Given the description of an element on the screen output the (x, y) to click on. 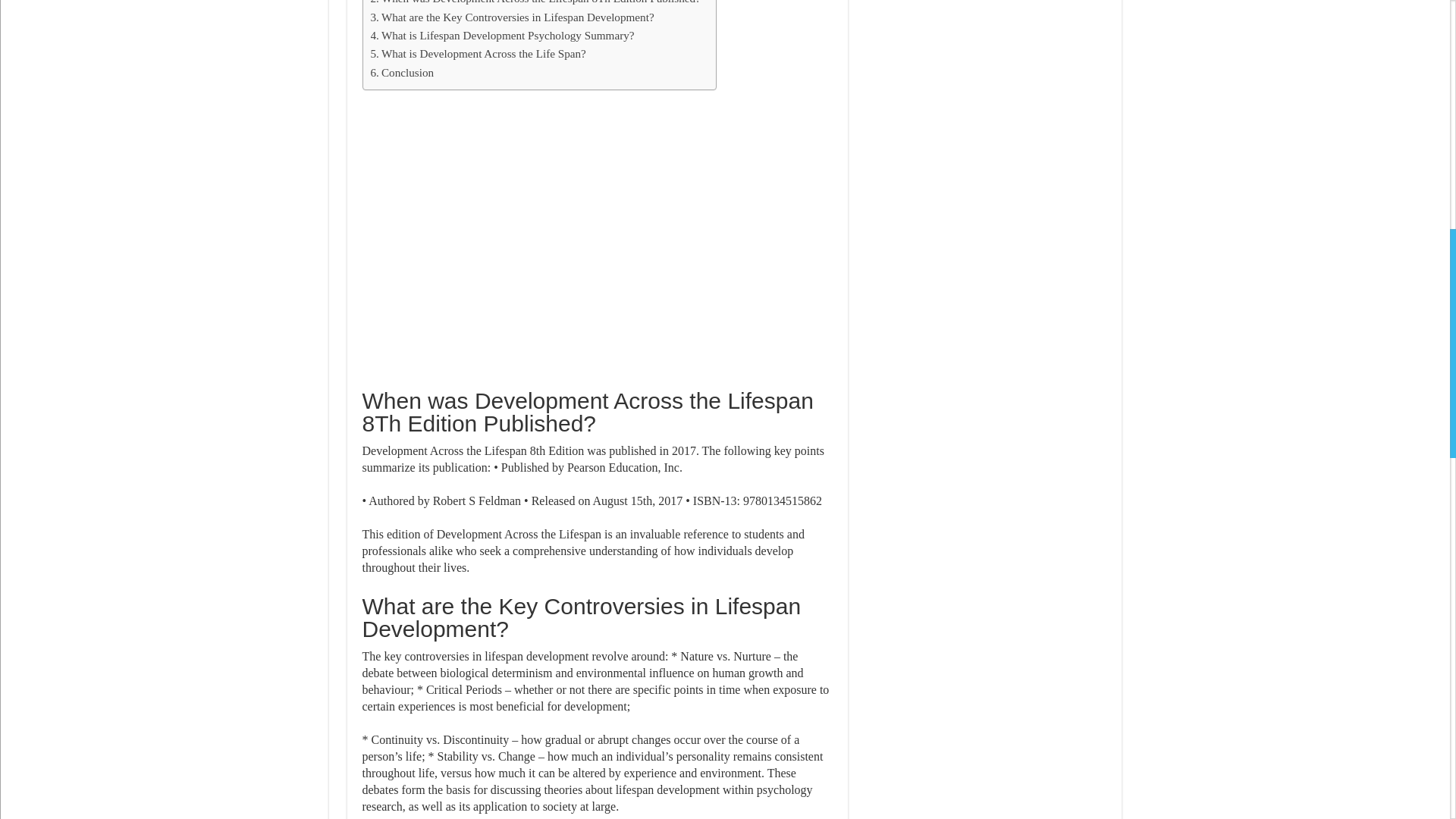
What is Development Across the Life Span?  (477, 54)
What is Lifespan Development Psychology Summary?  (501, 35)
What are the Key Controversies in Lifespan Development?  (511, 17)
What is Lifespan Development Psychology Summary? (501, 35)
What are the Key Controversies in Lifespan Development? (511, 17)
Conclusion (401, 72)
What is Development Across the Life Span? (477, 54)
